Given the description of an element on the screen output the (x, y) to click on. 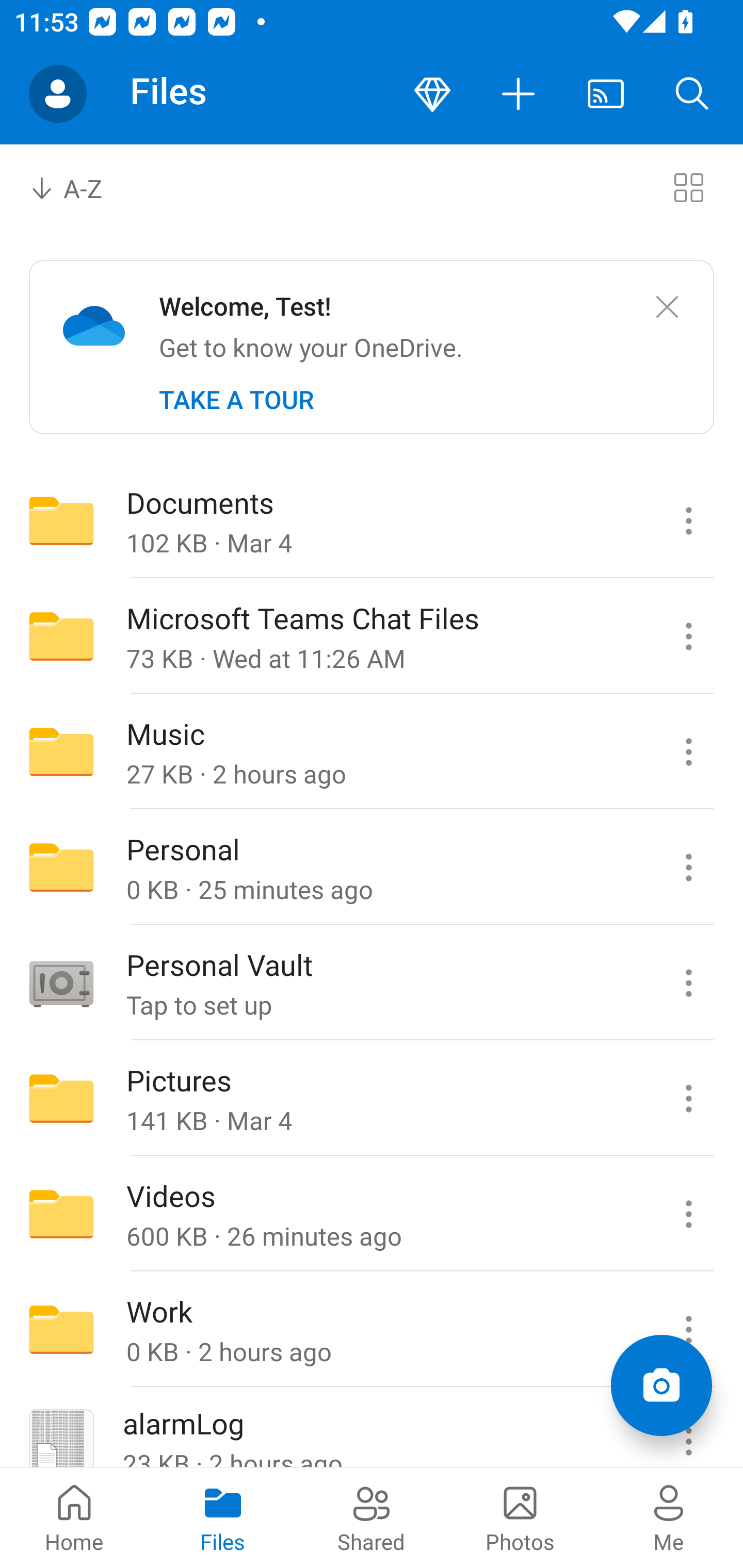
Account switcher (57, 93)
Cast. Disconnected (605, 93)
Premium button (432, 93)
More actions button (518, 93)
Search button (692, 93)
A-Z Sort by combo box, sort by name, A to Z (80, 187)
Switch to tiles view (688, 187)
Close (667, 307)
TAKE A TOUR (236, 399)
Folder Documents 102 KB · Mar 4 Documents commands (371, 520)
Documents commands (688, 520)
Microsoft Teams Chat Files commands (688, 636)
Folder Music 27 KB · 2 hours ago Music commands (371, 751)
Music commands (688, 751)
Personal commands (688, 867)
Personal Vault commands (688, 983)
Folder Pictures 141 KB · Mar 4 Pictures commands (371, 1099)
Pictures commands (688, 1099)
Videos commands (688, 1214)
Folder Work 0 KB · 2 hours ago Work commands (371, 1329)
Work commands (688, 1329)
Add items Scan (660, 1385)
alarmLog commands (688, 1427)
Home pivot Home (74, 1517)
Shared pivot Shared (371, 1517)
Photos pivot Photos (519, 1517)
Me pivot Me (668, 1517)
